Given the description of an element on the screen output the (x, y) to click on. 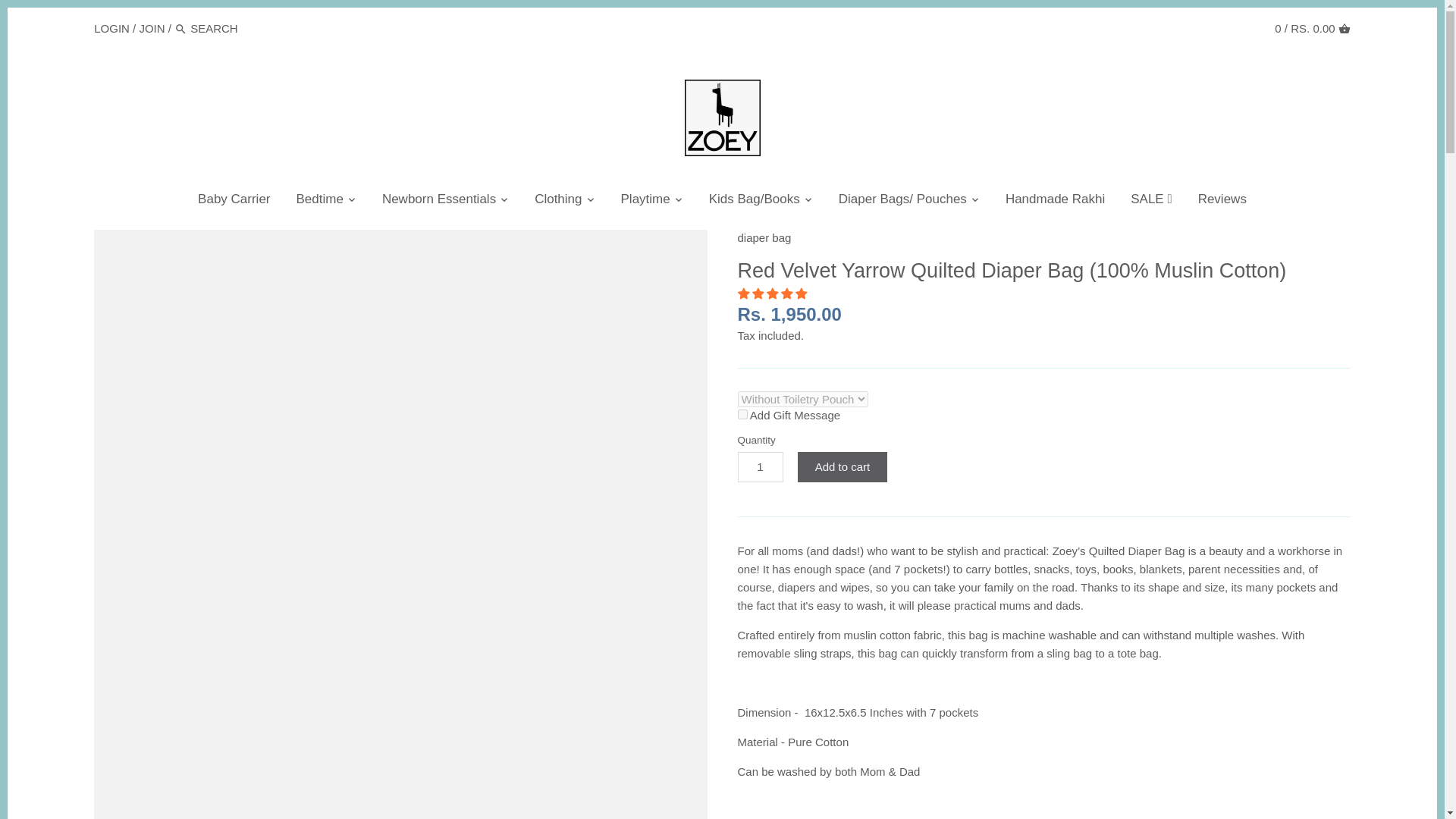
Bedtime (319, 202)
Baby Carrier (233, 202)
LOGIN (111, 27)
Search (180, 29)
Playtime (645, 202)
CART (1344, 28)
Clothing (557, 202)
1 (741, 414)
1 (759, 467)
Search (180, 29)
Newborn Essentials (438, 202)
JOIN (151, 27)
